Given the description of an element on the screen output the (x, y) to click on. 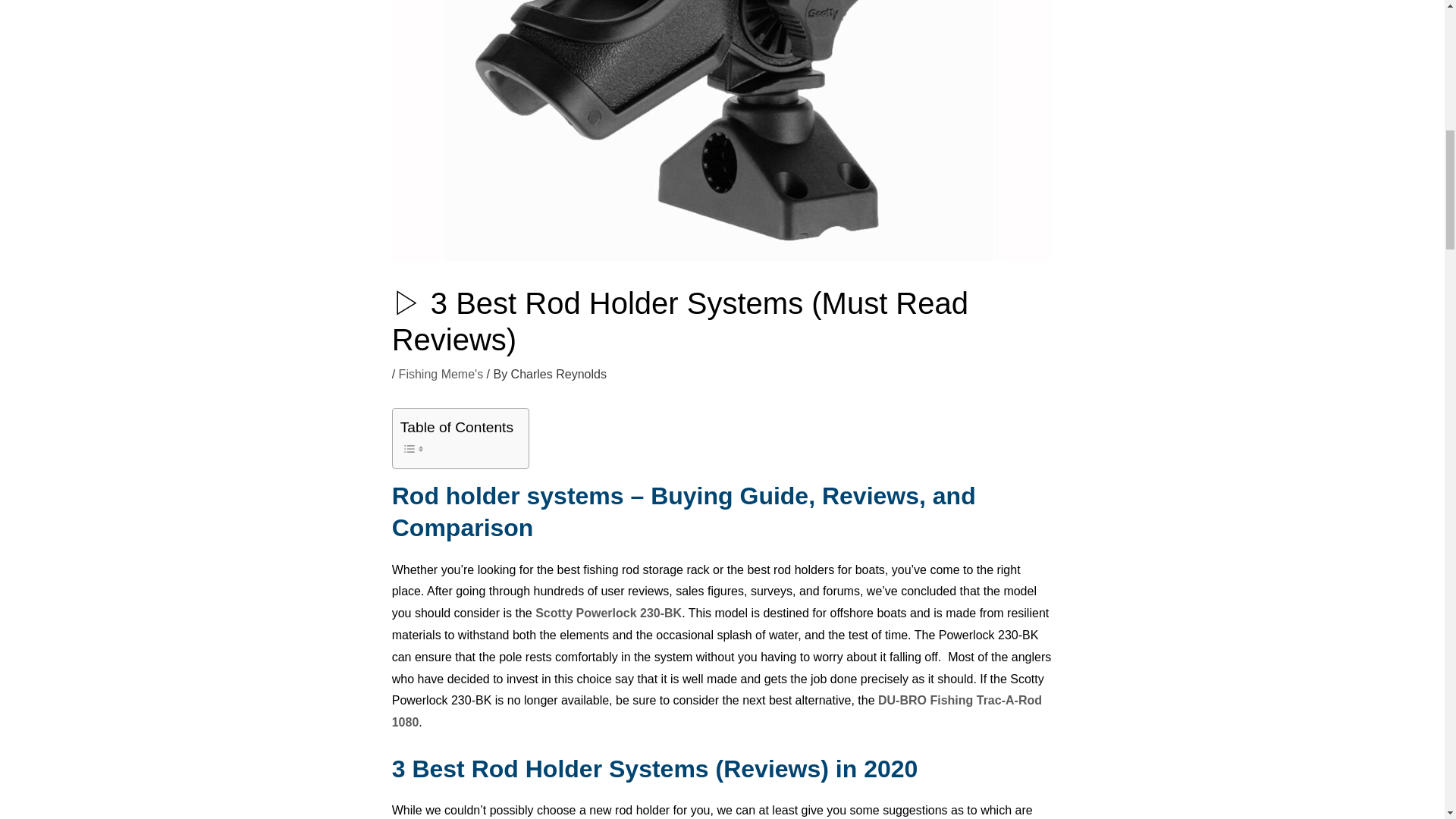
Scotty Powerlock 230-BK (608, 612)
Charles Reynolds (559, 373)
View all posts by Charles Reynolds (559, 373)
DU-BRO Fishing Trac-A-Rod 1080 (716, 710)
Fishing Meme's (440, 373)
